Given the description of an element on the screen output the (x, y) to click on. 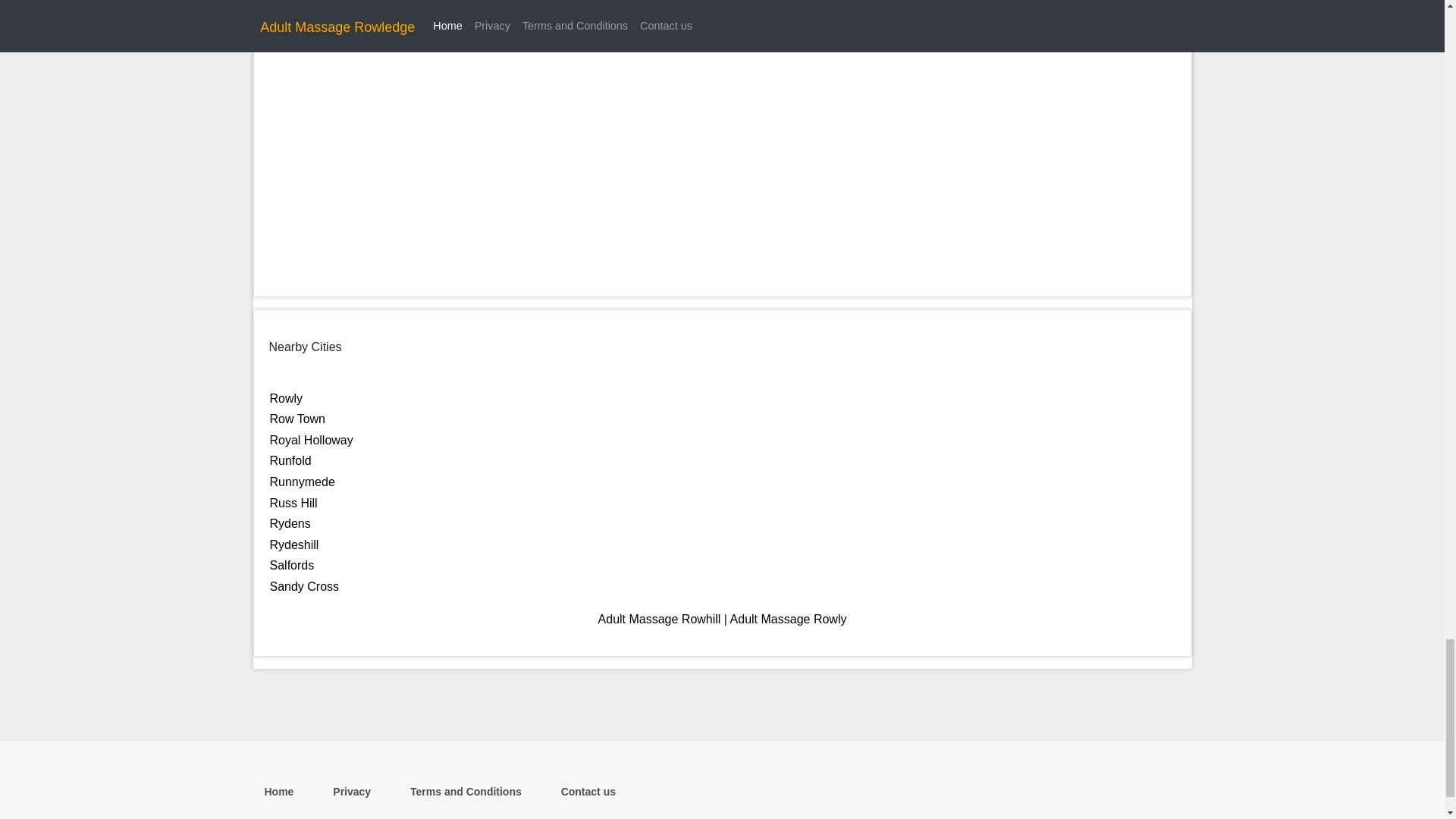
Russ Hill (293, 502)
Adult Massage Rowly (788, 618)
Rowly (285, 398)
Runnymede (301, 481)
Salfords (291, 564)
Royal Holloway (311, 440)
Rydeshill (293, 544)
Row Town (297, 418)
Runfold (290, 460)
Sandy Cross (304, 585)
Rydens (290, 522)
Adult Massage Rowhill (659, 618)
